Given the description of an element on the screen output the (x, y) to click on. 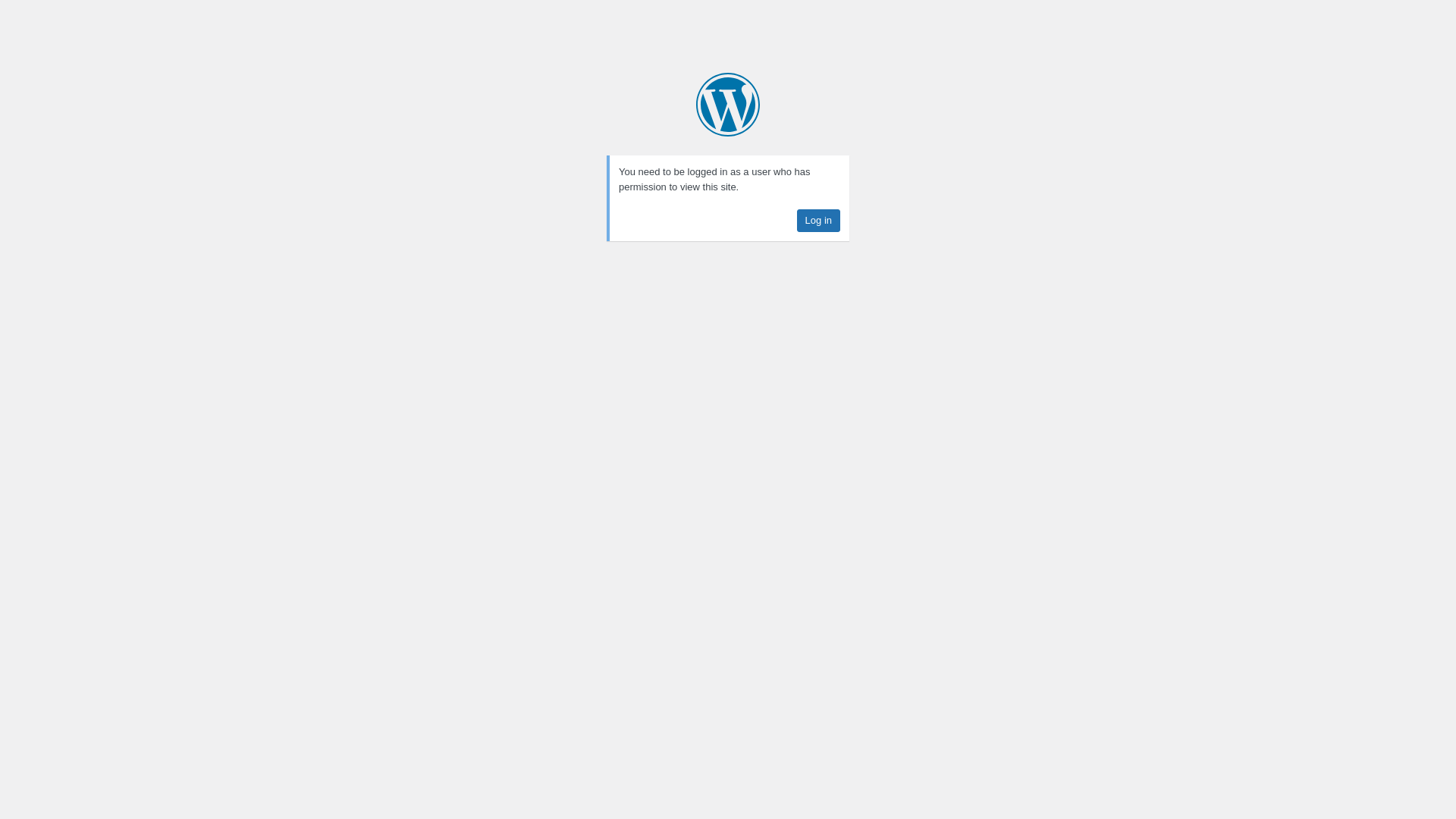
Log in Element type: text (818, 220)
Private Site Element type: text (727, 104)
